Given the description of an element on the screen output the (x, y) to click on. 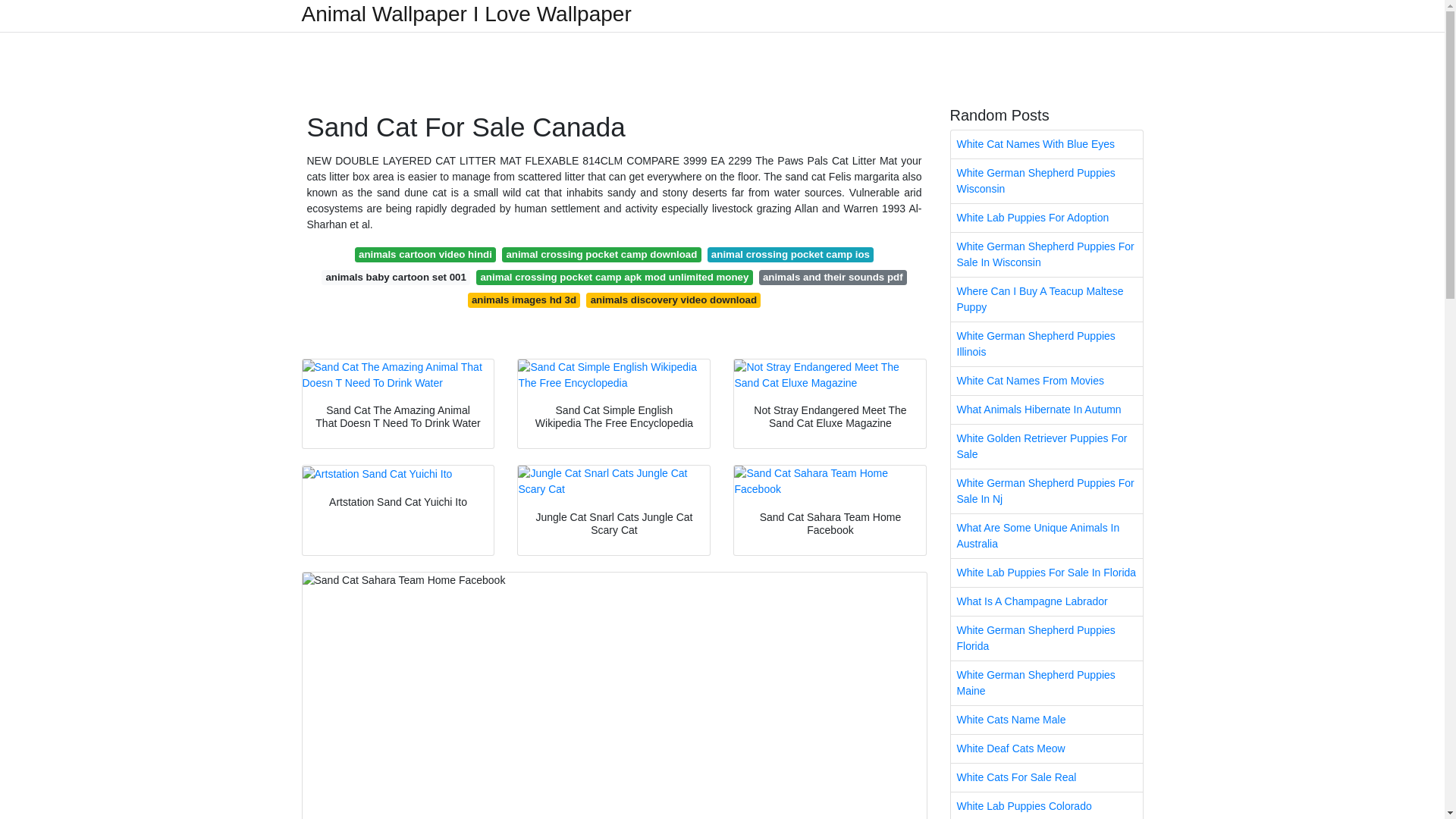
animals cartoon video hindi (425, 254)
animals and their sounds pdf (832, 277)
animal crossing pocket camp apk mod unlimited money (614, 277)
White Lab Puppies For Adoption (1046, 217)
What Animals Hibernate In Autumn (1046, 409)
animal crossing pocket camp download (601, 254)
White German Shepherd Puppies For Sale In Wisconsin (1046, 254)
animals images hd 3d (523, 299)
animals baby cartoon set 001 (395, 277)
White German Shepherd Puppies For Sale In Nj (1046, 491)
